Given the description of an element on the screen output the (x, y) to click on. 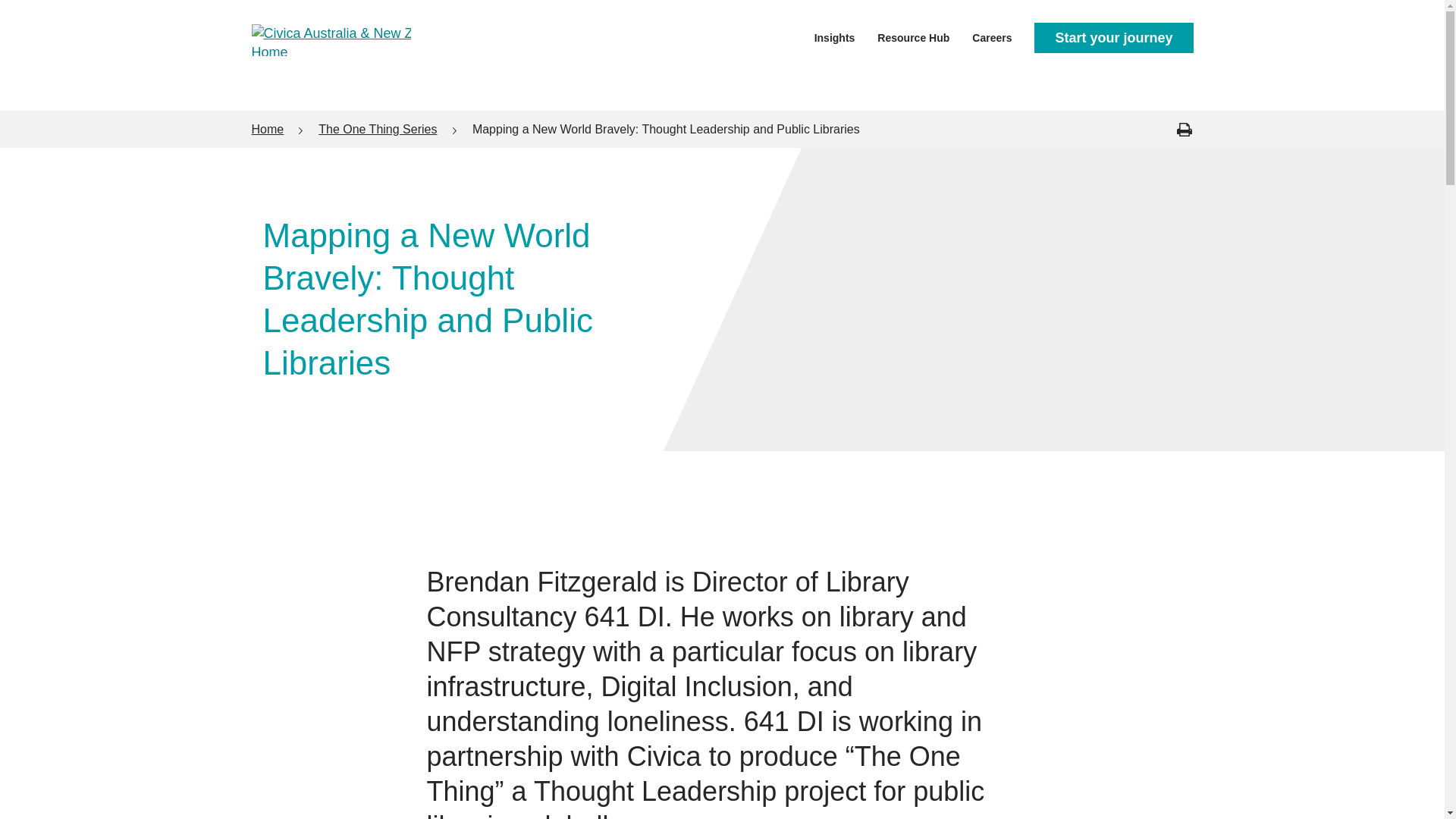
Home (267, 128)
Resource Hub (913, 37)
Start your journey (1112, 37)
Insights (834, 37)
The One Thing Series (377, 128)
Careers (991, 37)
Print (1183, 128)
